Given the description of an element on the screen output the (x, y) to click on. 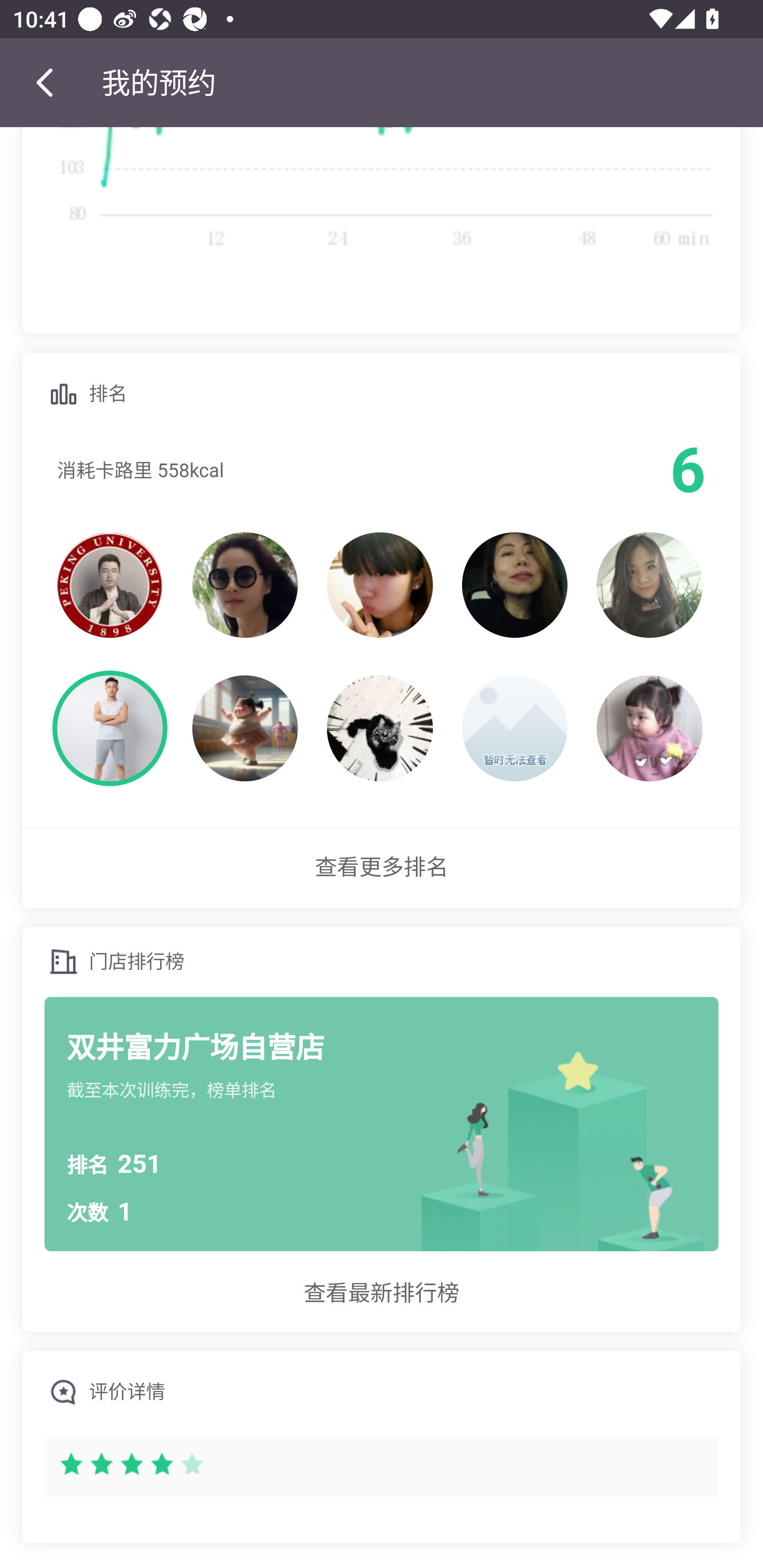
Left Button In Title Bar (50, 82)
查看更多排名 (381, 868)
